Given the description of an element on the screen output the (x, y) to click on. 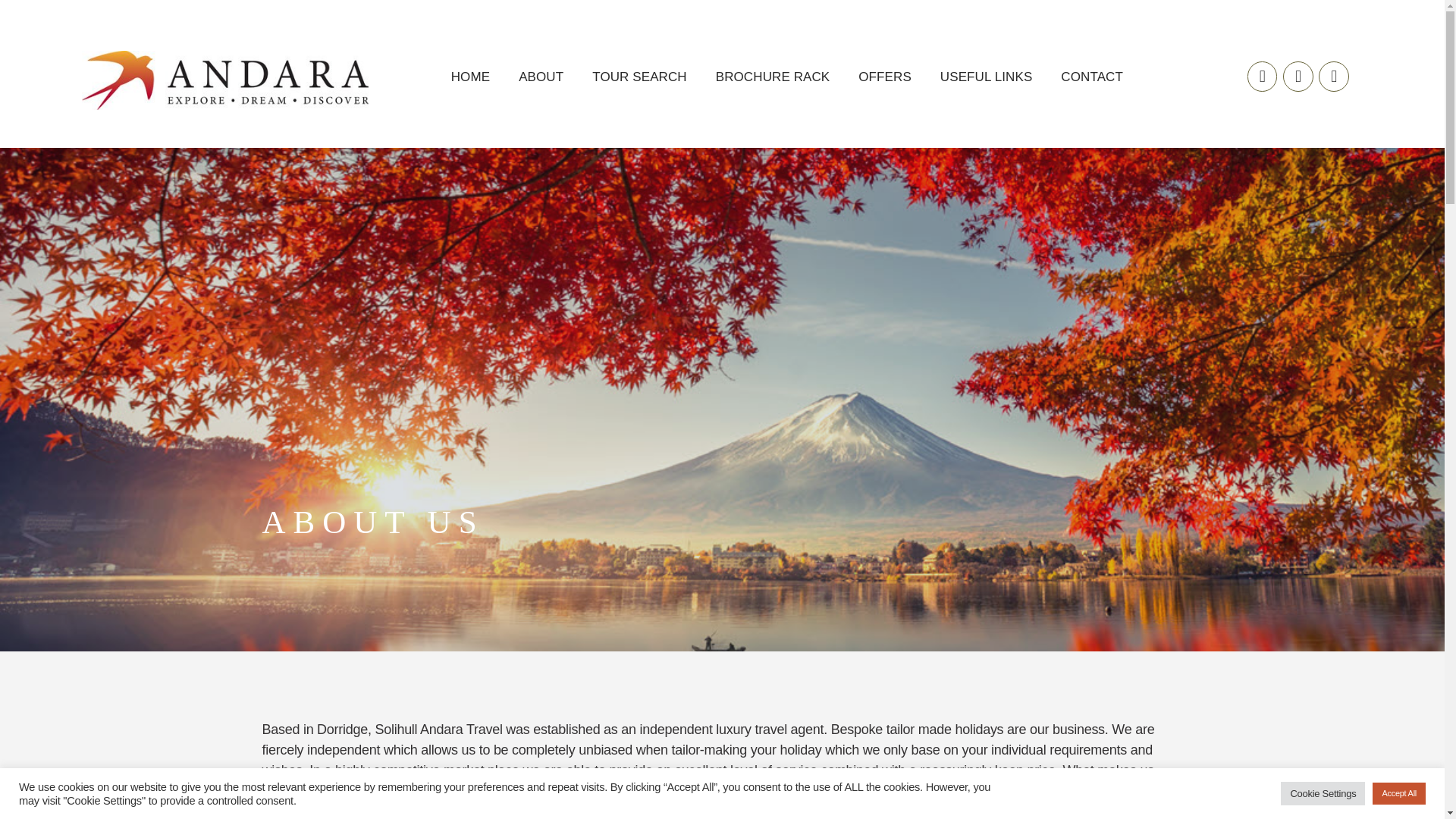
OFFERS (884, 53)
ABOUT (541, 43)
HOME (469, 42)
USEFUL LINKS (986, 54)
CONTACT (1091, 68)
BROCHURE RACK (772, 51)
TOUR SEARCH (639, 48)
